Given the description of an element on the screen output the (x, y) to click on. 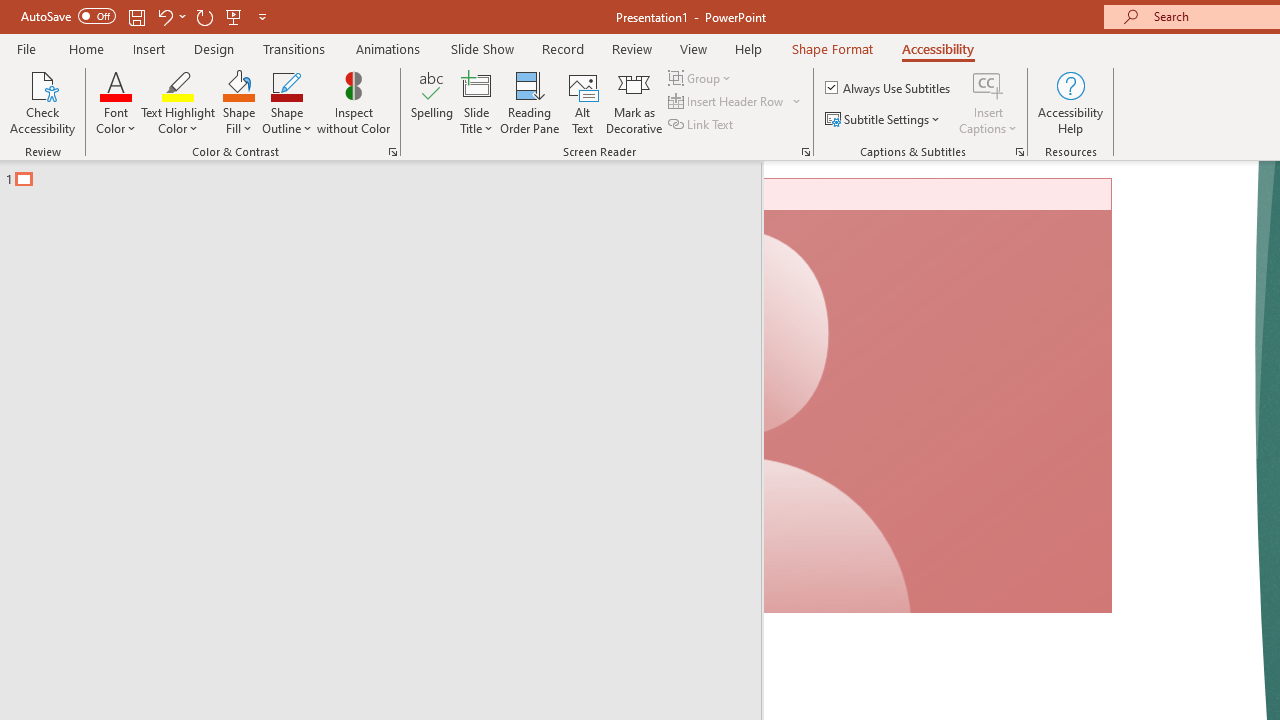
Camera 7, No camera detected. (938, 395)
Link Text (702, 124)
Inspect without Color (353, 102)
Alt Text (582, 102)
